Given the description of an element on the screen output the (x, y) to click on. 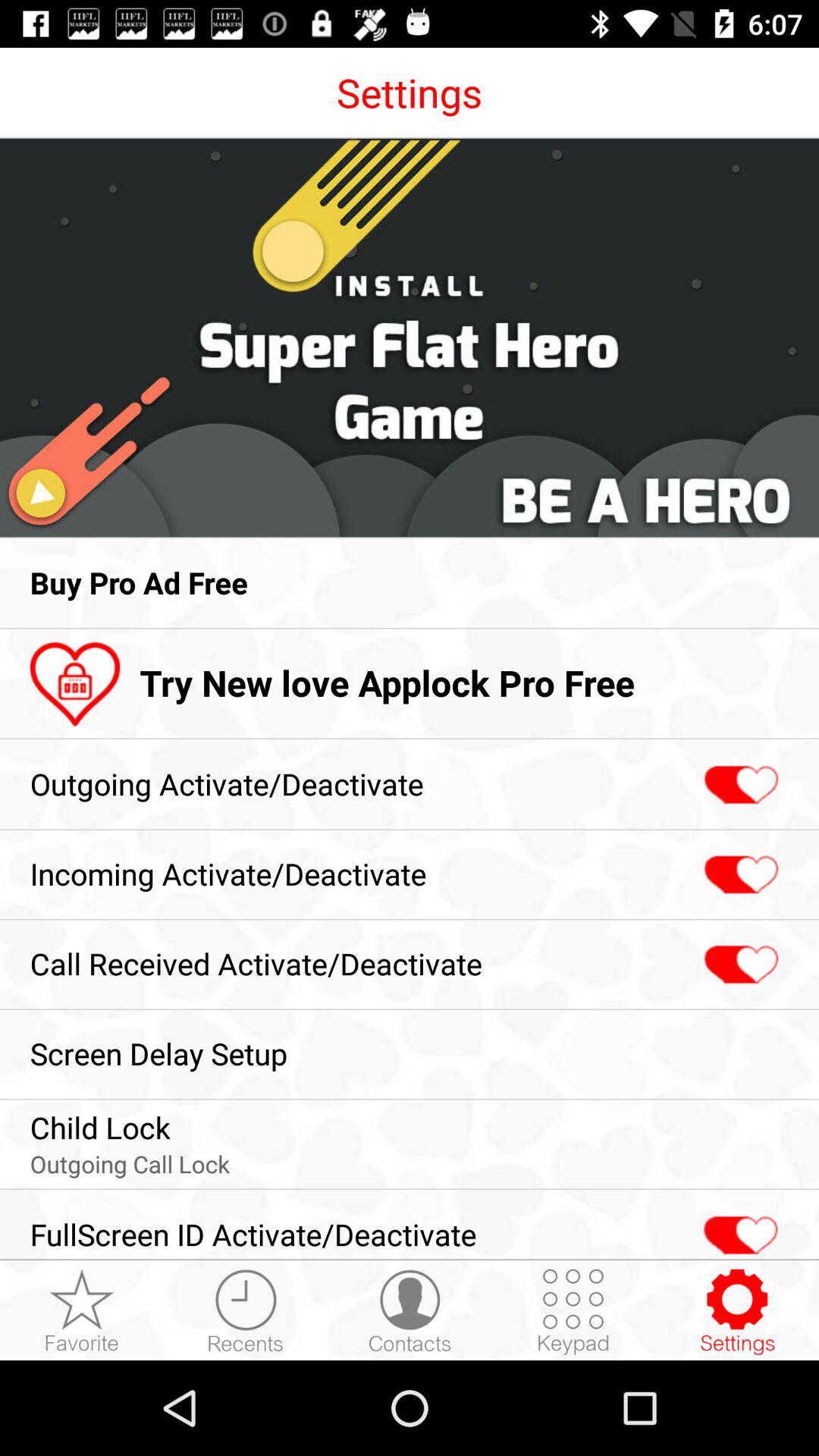
book the app (737, 1311)
